Given the description of an element on the screen output the (x, y) to click on. 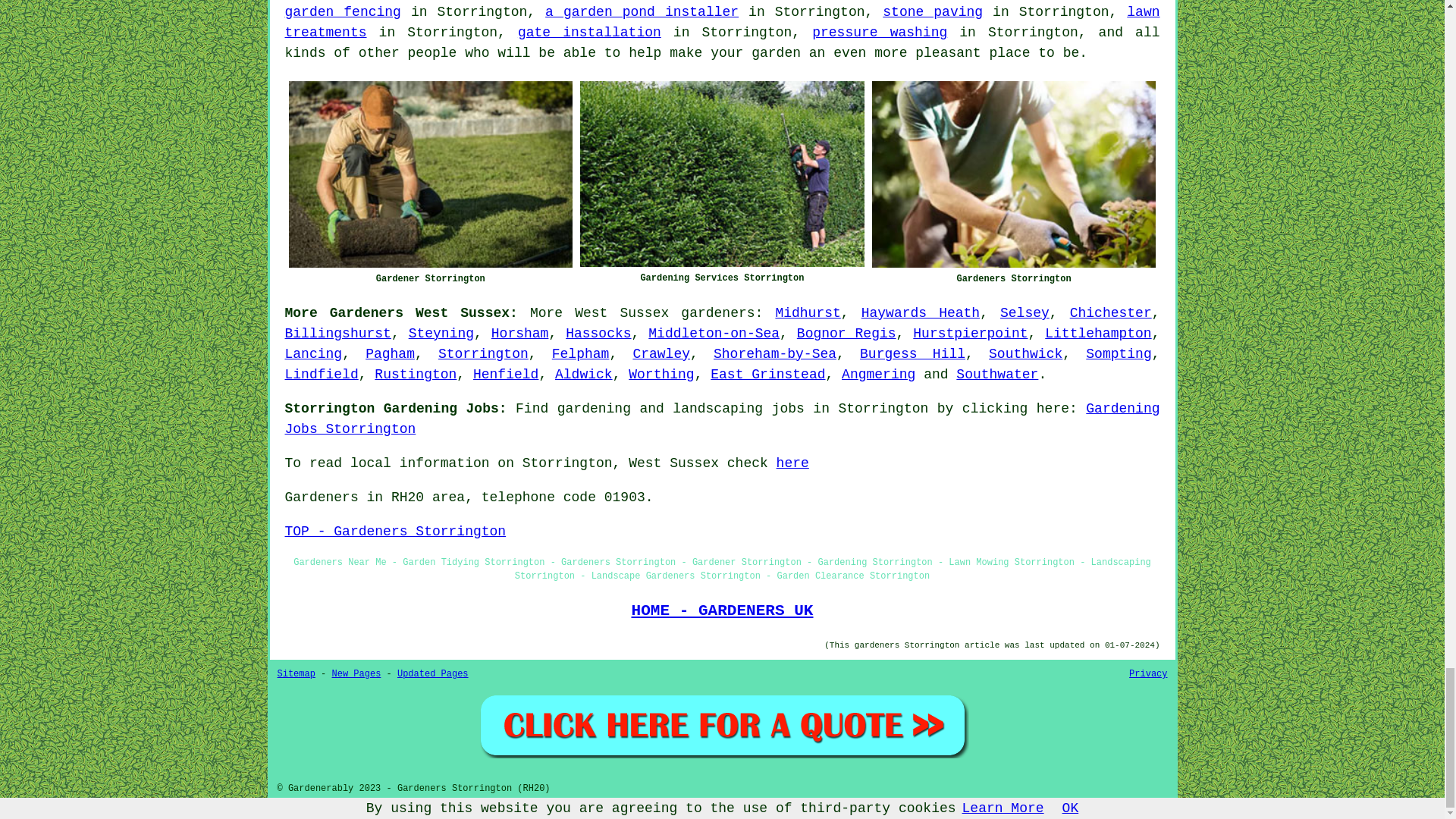
Gardeners Storrington UK (1014, 174)
Gardening Services Storrington West Sussex (721, 173)
Gardener Storrington (430, 174)
